Given the description of an element on the screen output the (x, y) to click on. 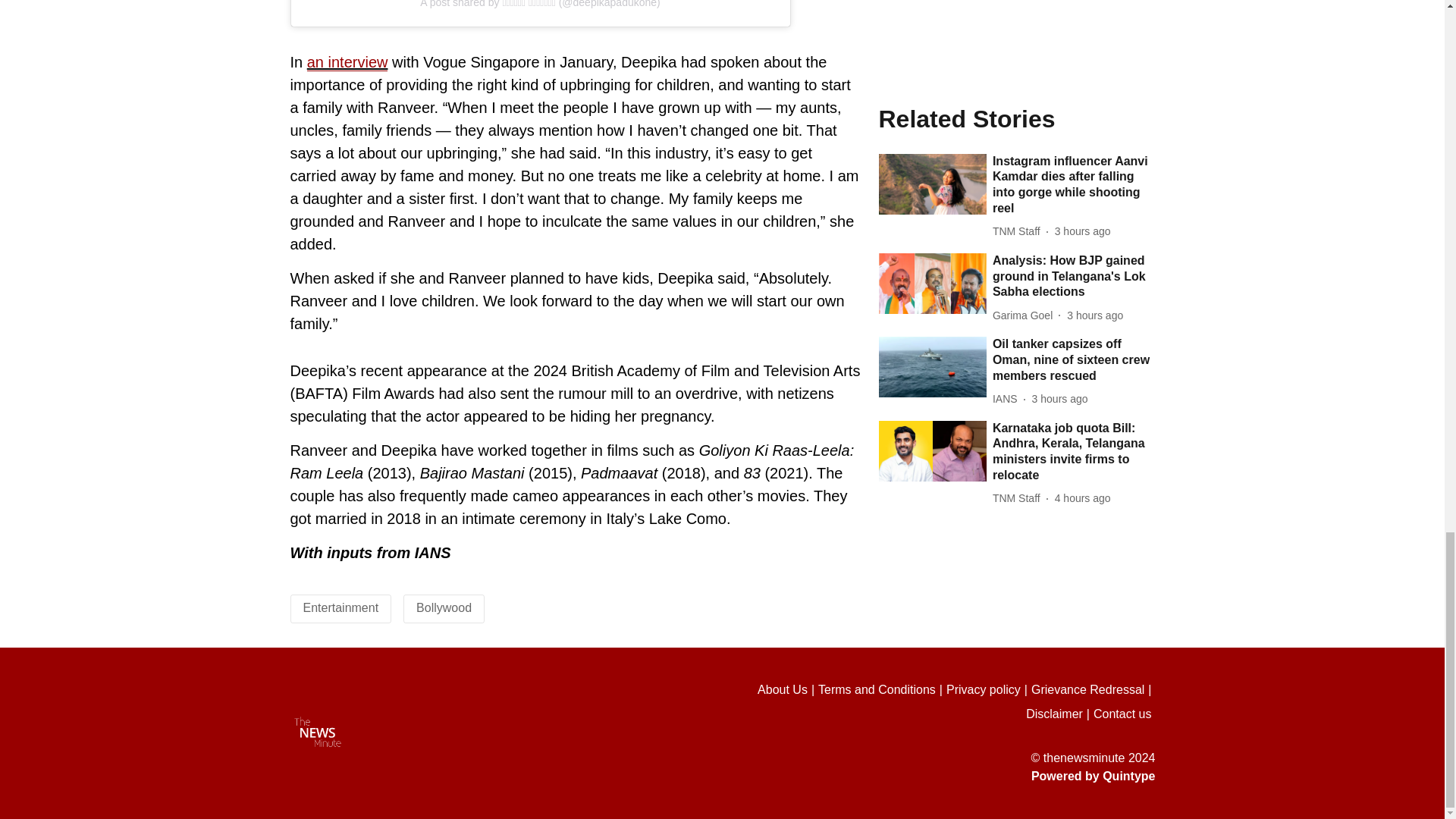
Entertainment (340, 607)
an interview (347, 62)
Bollywood (443, 607)
